Given the description of an element on the screen output the (x, y) to click on. 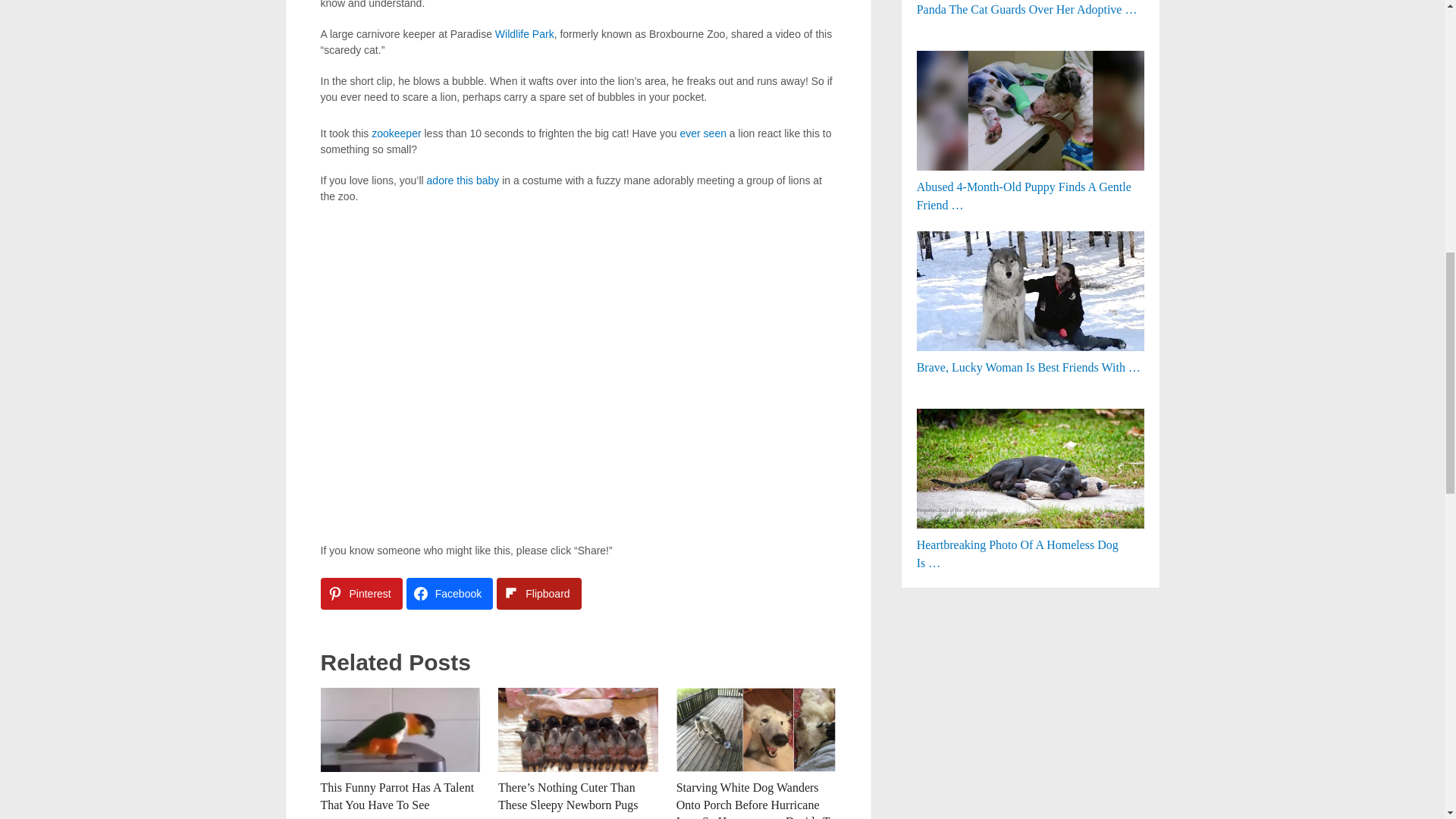
This Funny Parrot Has A Talent That You Have To See (397, 795)
This Funny Parrot Has A Talent That You Have To See (400, 729)
Share on Pinterest (360, 593)
Wildlife Park (524, 33)
Share on Facebook (449, 593)
Share on Flipboard (538, 593)
